Given the description of an element on the screen output the (x, y) to click on. 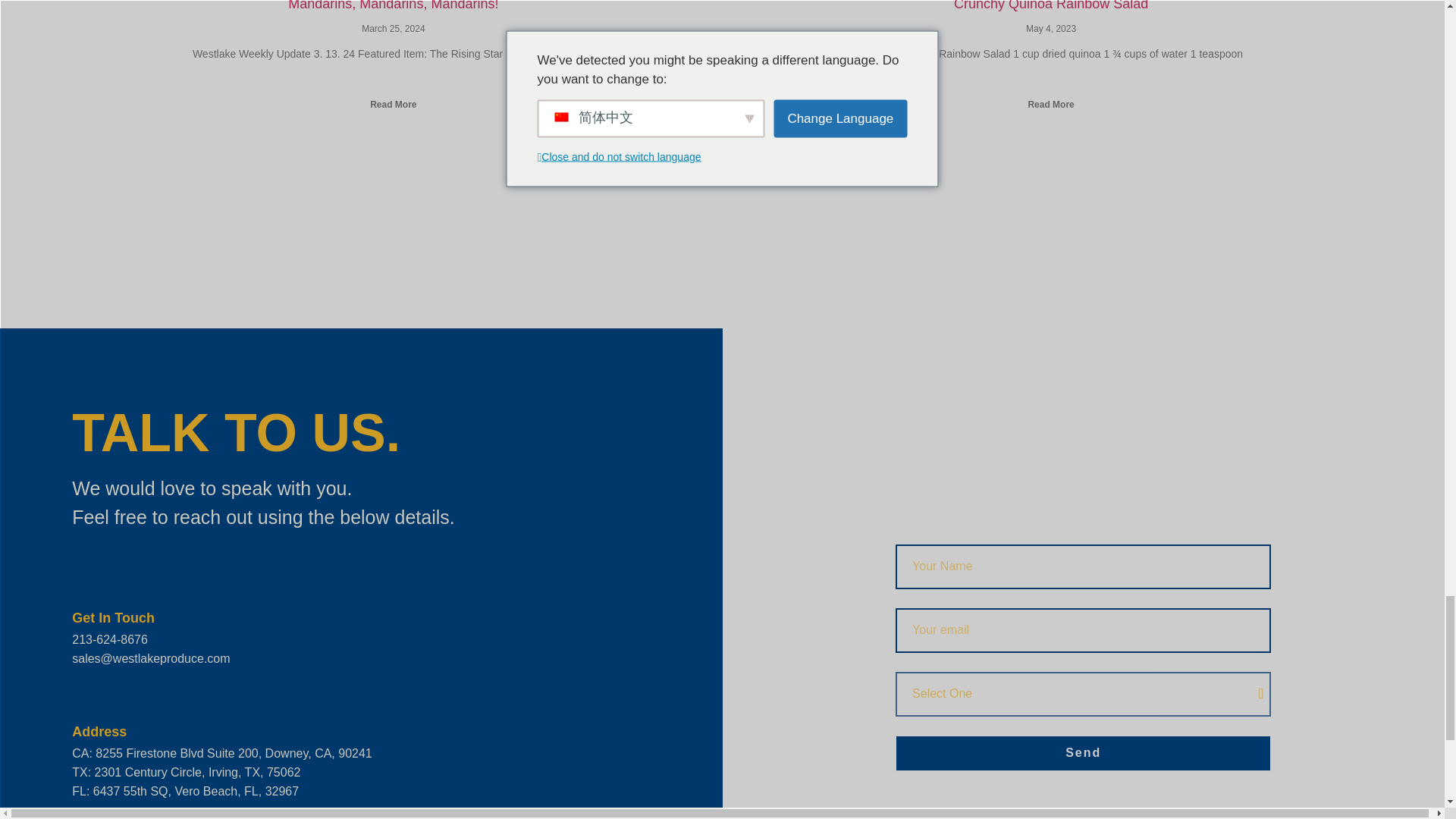
Send (1083, 753)
Mandarins, Mandarins, Mandarins! (392, 5)
Crunchy Quinoa Rainbow Salad (1050, 5)
Read More (392, 104)
Read More (1050, 104)
